Given the description of an element on the screen output the (x, y) to click on. 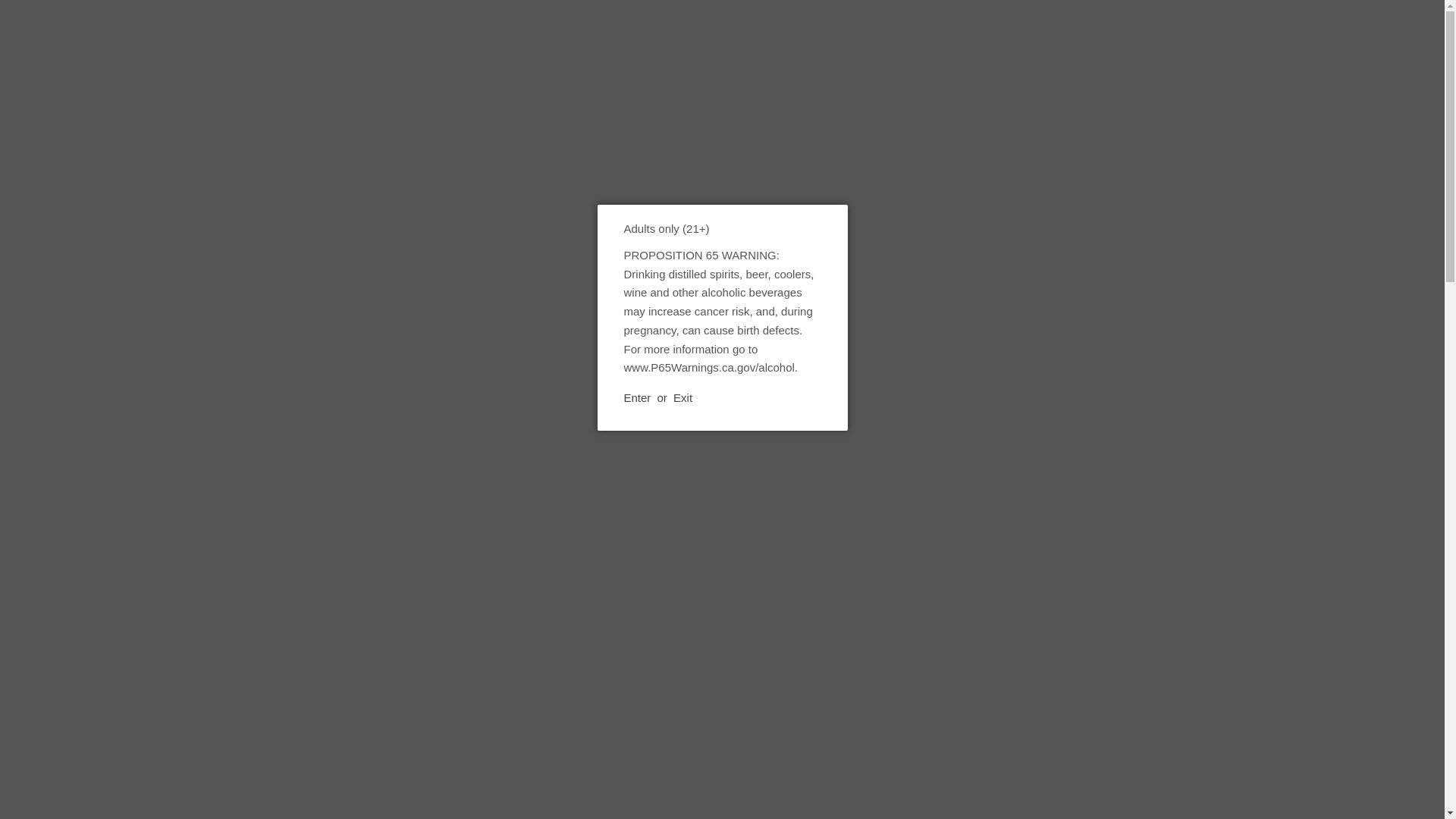
Enter (636, 398)
Exit (369, 132)
